Given the description of an element on the screen output the (x, y) to click on. 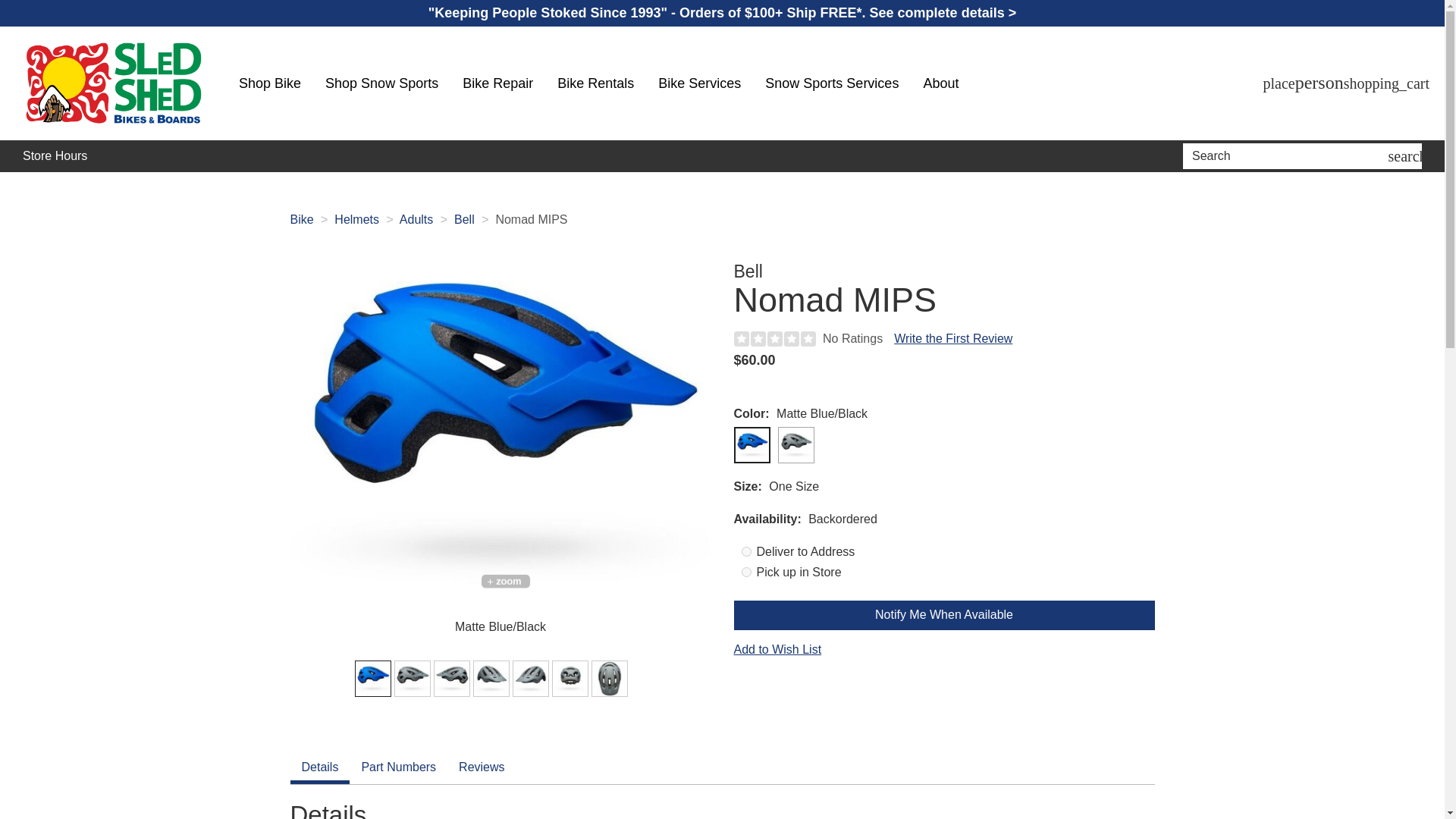
on (746, 551)
on (746, 572)
Sled Shed Bikes and Boards Home Page (114, 82)
Store Hours (55, 156)
PayPal Message 1 (943, 385)
Search (1287, 155)
